Given the description of an element on the screen output the (x, y) to click on. 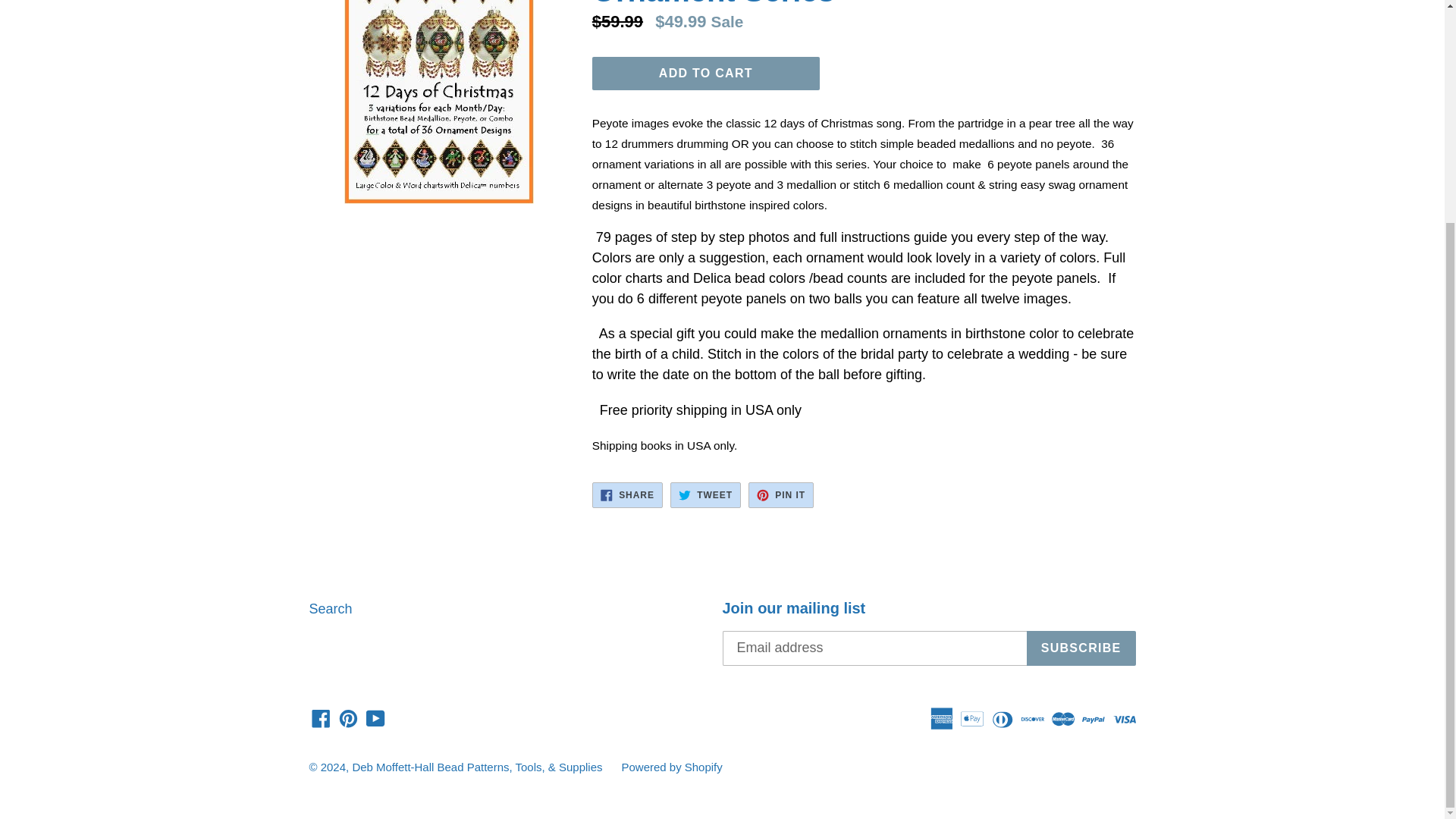
Share on Facebook (627, 494)
Pin on Pinterest (780, 494)
Tweet on Twitter (705, 494)
